Given the description of an element on the screen output the (x, y) to click on. 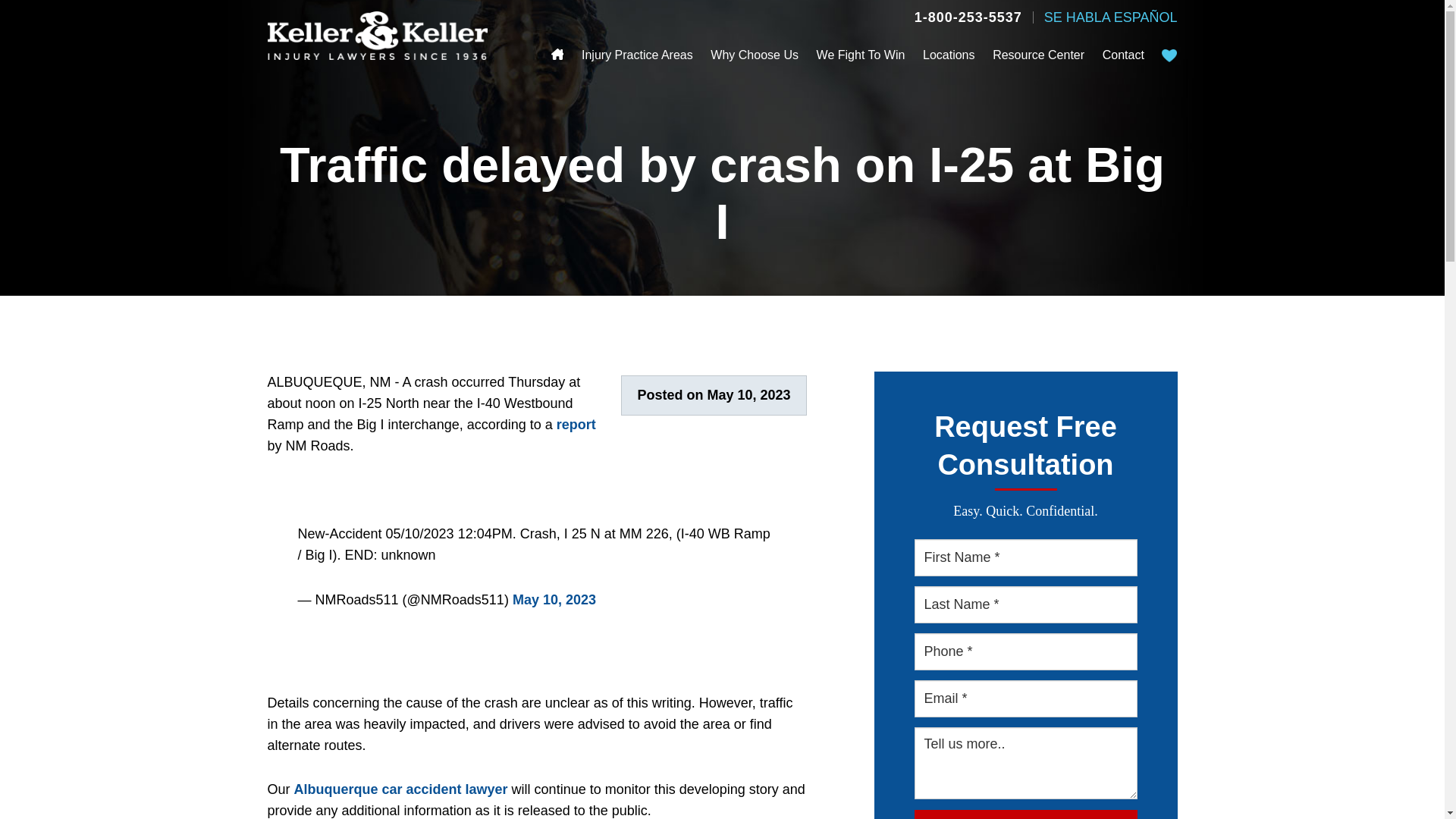
Locations (949, 55)
Why Choose Us (753, 55)
1-800-253-5537 (968, 17)
We Fight To Win (860, 55)
Injury Practice Areas (636, 55)
